Given the description of an element on the screen output the (x, y) to click on. 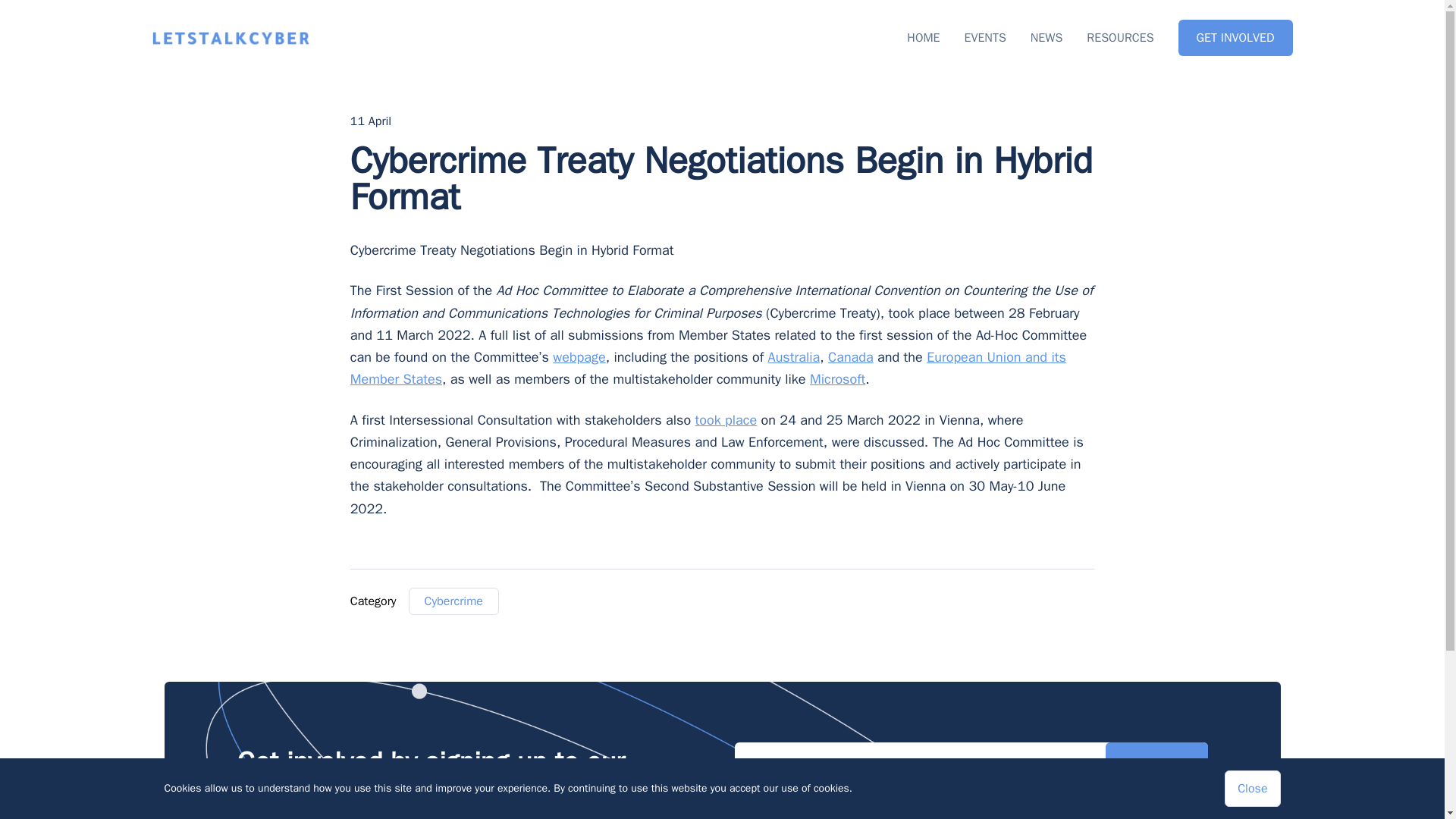
Microsoft (836, 379)
Subscribe (1156, 764)
Australia (794, 356)
EVENTS (984, 37)
Canada (850, 356)
took place (726, 419)
GET INVOLVED (1234, 37)
HOME (923, 37)
NEWS (1046, 37)
Close (1251, 788)
